Given the description of an element on the screen output the (x, y) to click on. 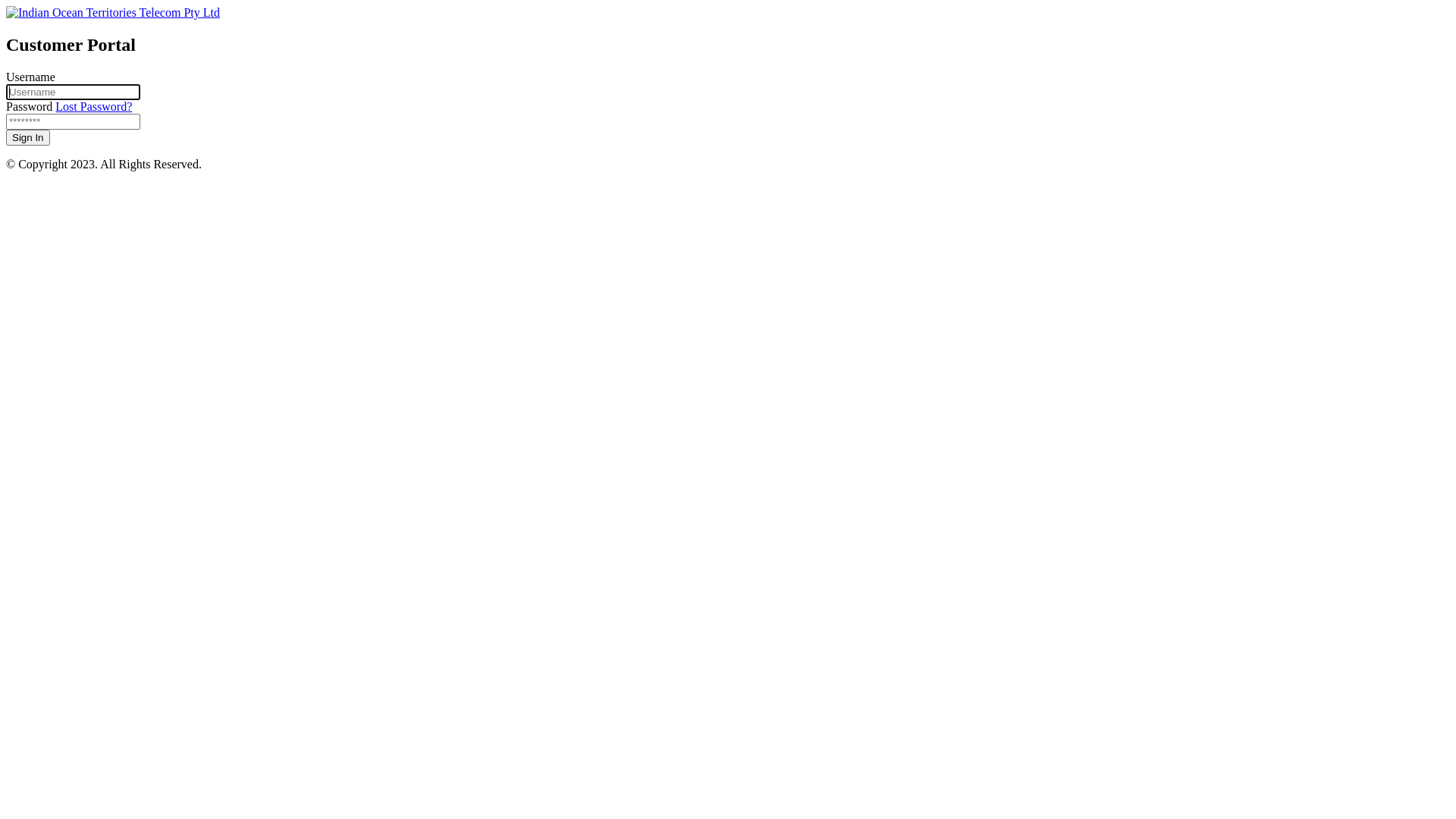
Sign In Element type: text (28, 137)
Lost Password? Element type: text (93, 106)
